Given the description of an element on the screen output the (x, y) to click on. 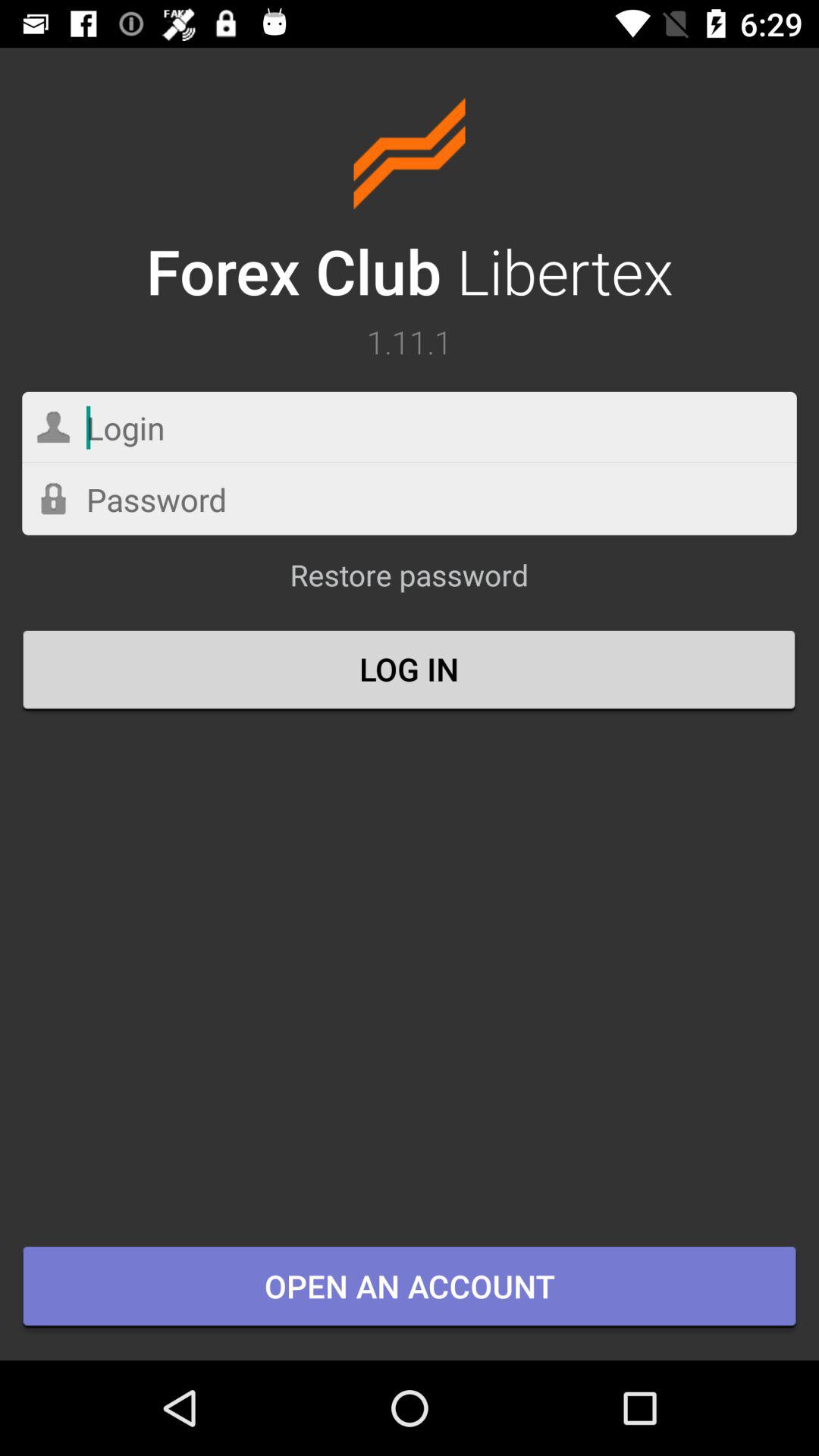
flip to the forex club libertex icon (409, 204)
